Given the description of an element on the screen output the (x, y) to click on. 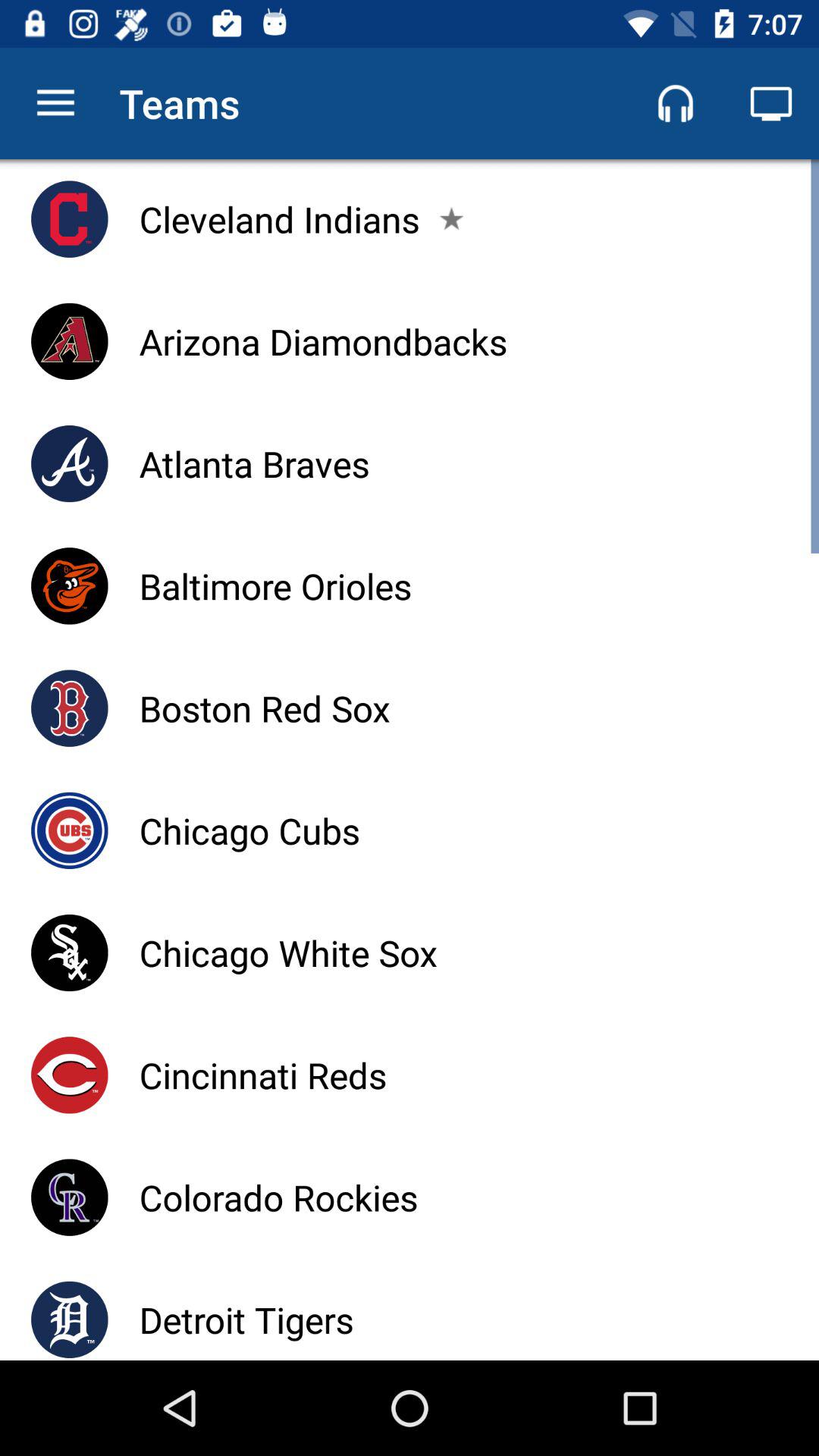
tap the icon below boston red sox item (249, 830)
